Given the description of an element on the screen output the (x, y) to click on. 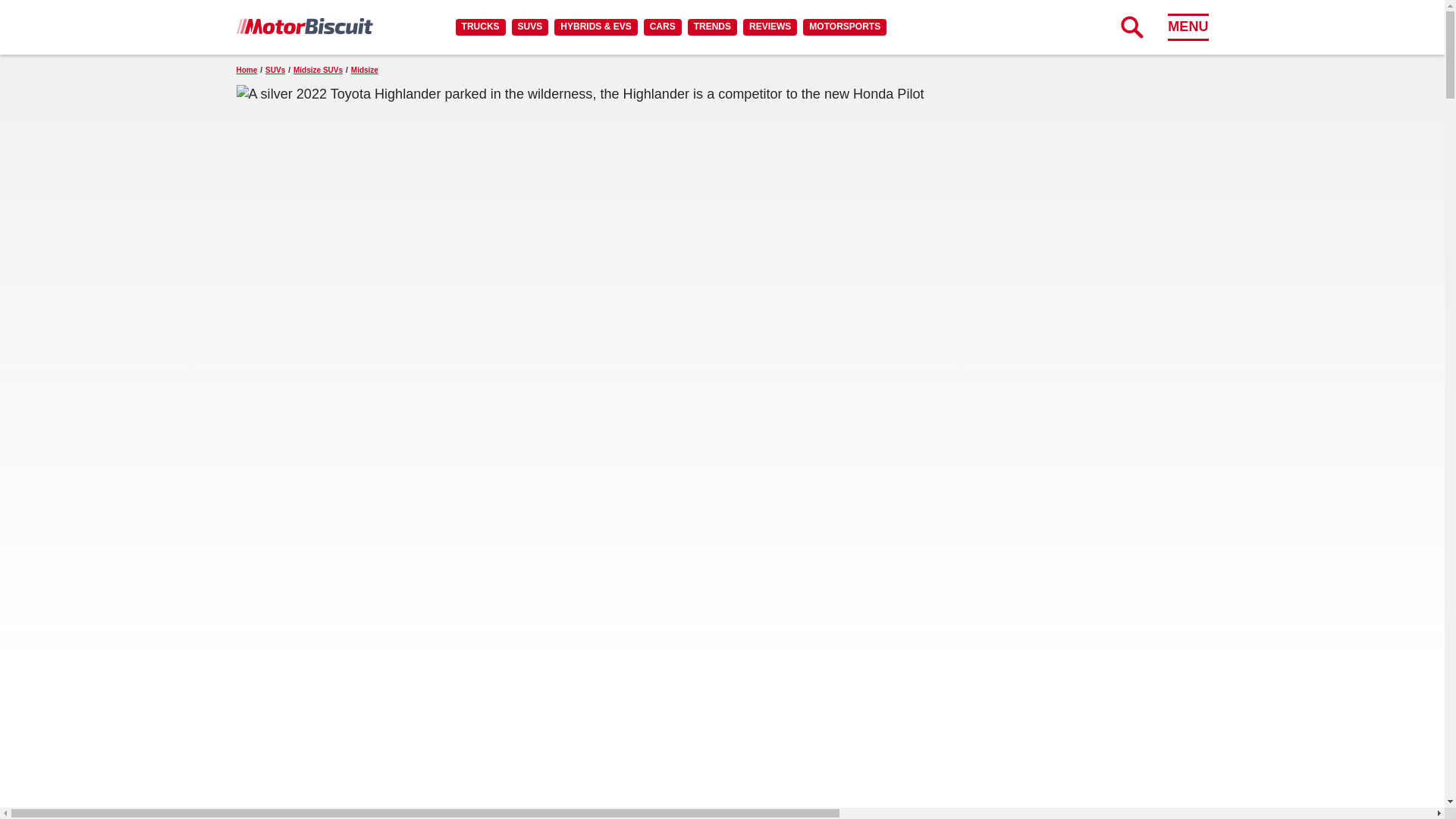
MotorBiscuit (303, 26)
MOTORSPORTS (844, 26)
TRUCKS (480, 26)
Expand Search (1131, 26)
TRENDS (711, 26)
SUVS (530, 26)
REVIEWS (769, 26)
MENU (1187, 26)
CARS (662, 26)
